Given the description of an element on the screen output the (x, y) to click on. 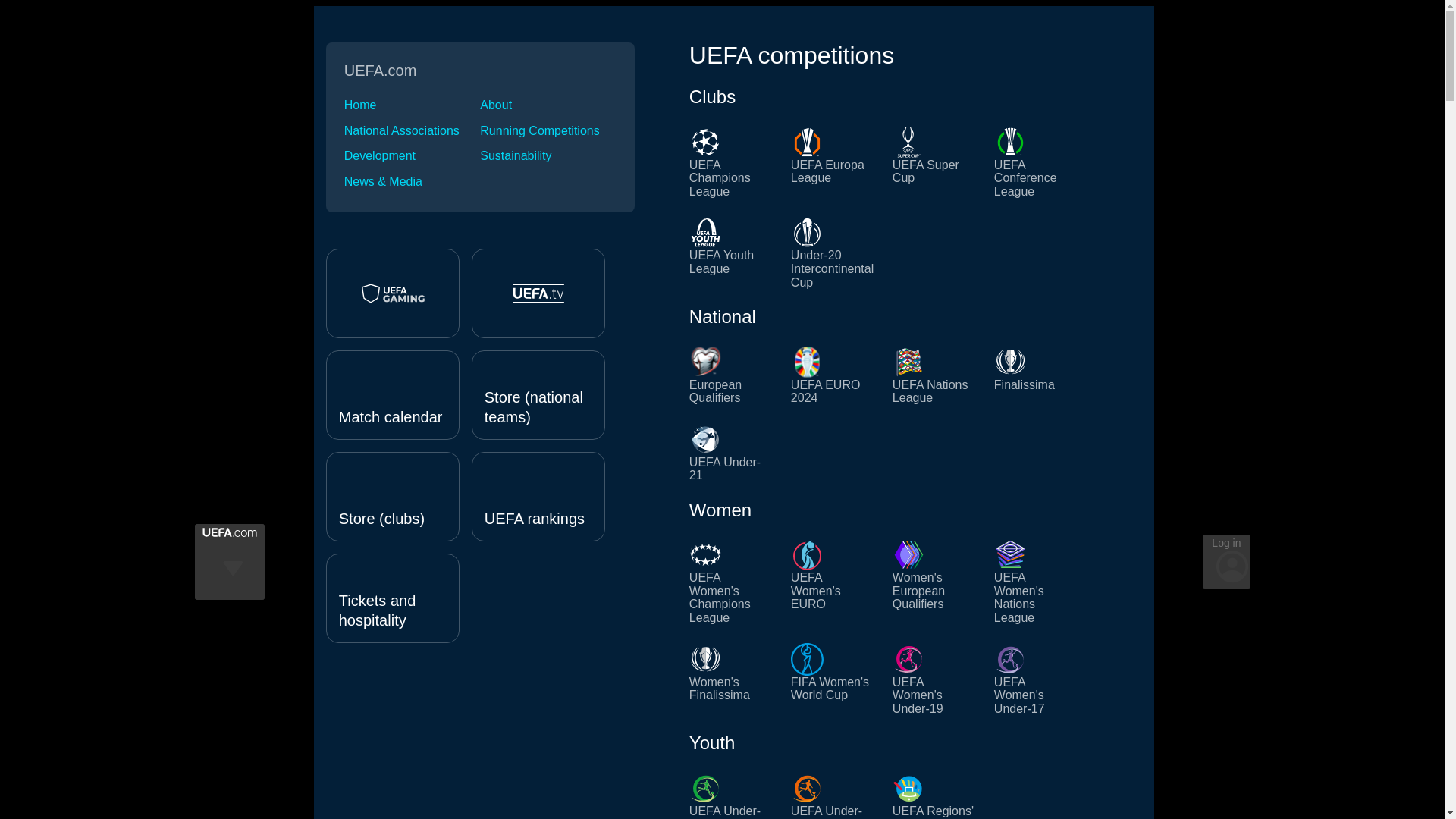
UEFA Women's Under-17 (1035, 678)
UEFA Youth League (730, 252)
UEFA Conference League (1035, 162)
UEFA.COM (229, 532)
Under-20 Intercontinental Cup (832, 252)
UEFA Women's Champions League (730, 581)
About (547, 105)
Match calendar (393, 394)
Home (411, 105)
UEFA EURO 2024 (832, 374)
